Given the description of an element on the screen output the (x, y) to click on. 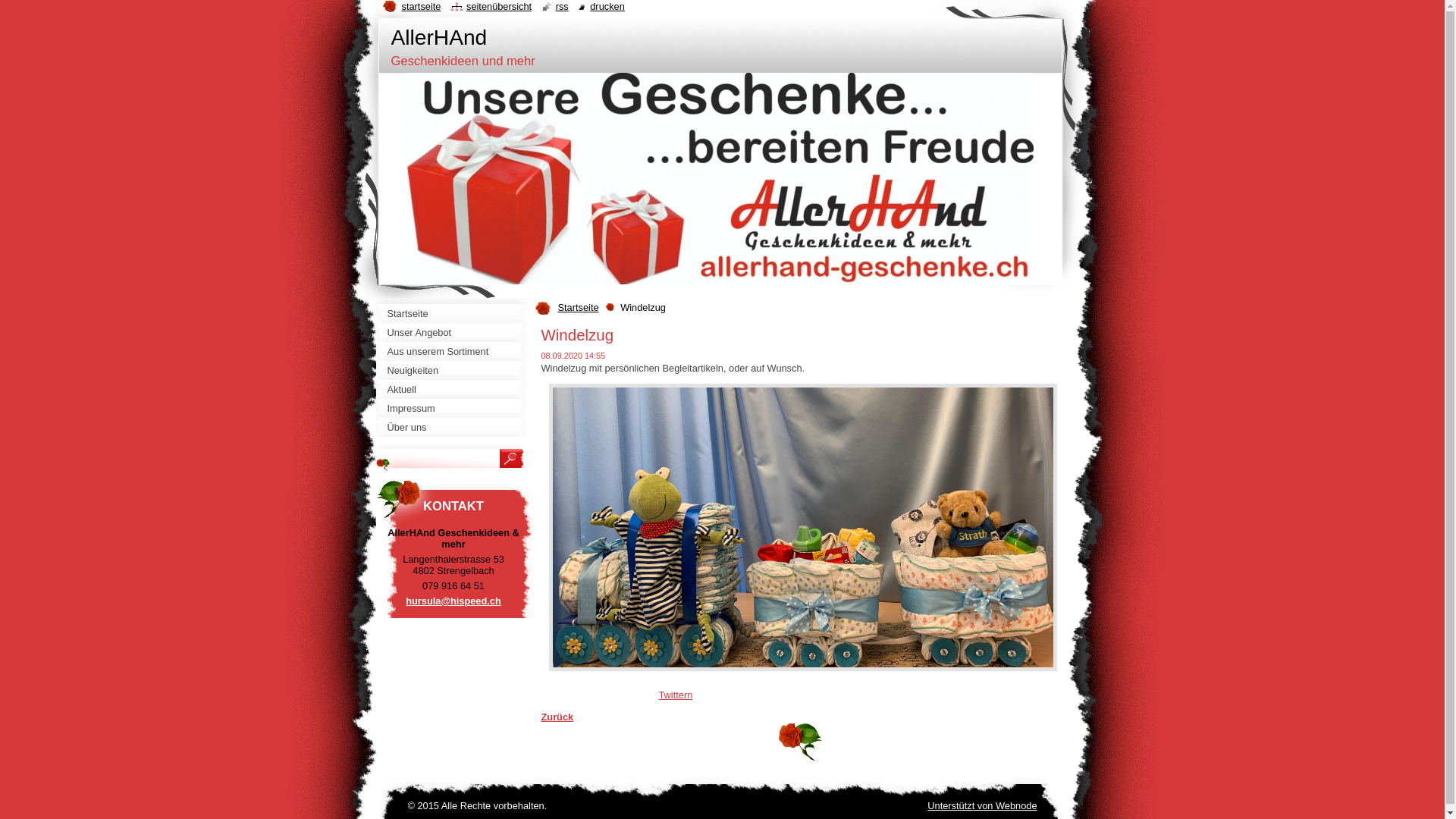
Aktuell Element type: text (453, 388)
Unser Angebot Element type: text (453, 332)
startseite Element type: text (411, 6)
Aus unserem Sortiment Element type: text (453, 351)
Startseite Element type: text (582, 307)
Neuigkeiten Element type: text (453, 369)
drucken Element type: text (601, 6)
Twittern Element type: text (675, 694)
AllerHAnd Element type: text (439, 37)
hursula@hispeed.ch Element type: text (453, 600)
Startseite Element type: text (453, 313)
rss Element type: text (555, 6)
Impressum Element type: text (453, 407)
